Given the description of an element on the screen output the (x, y) to click on. 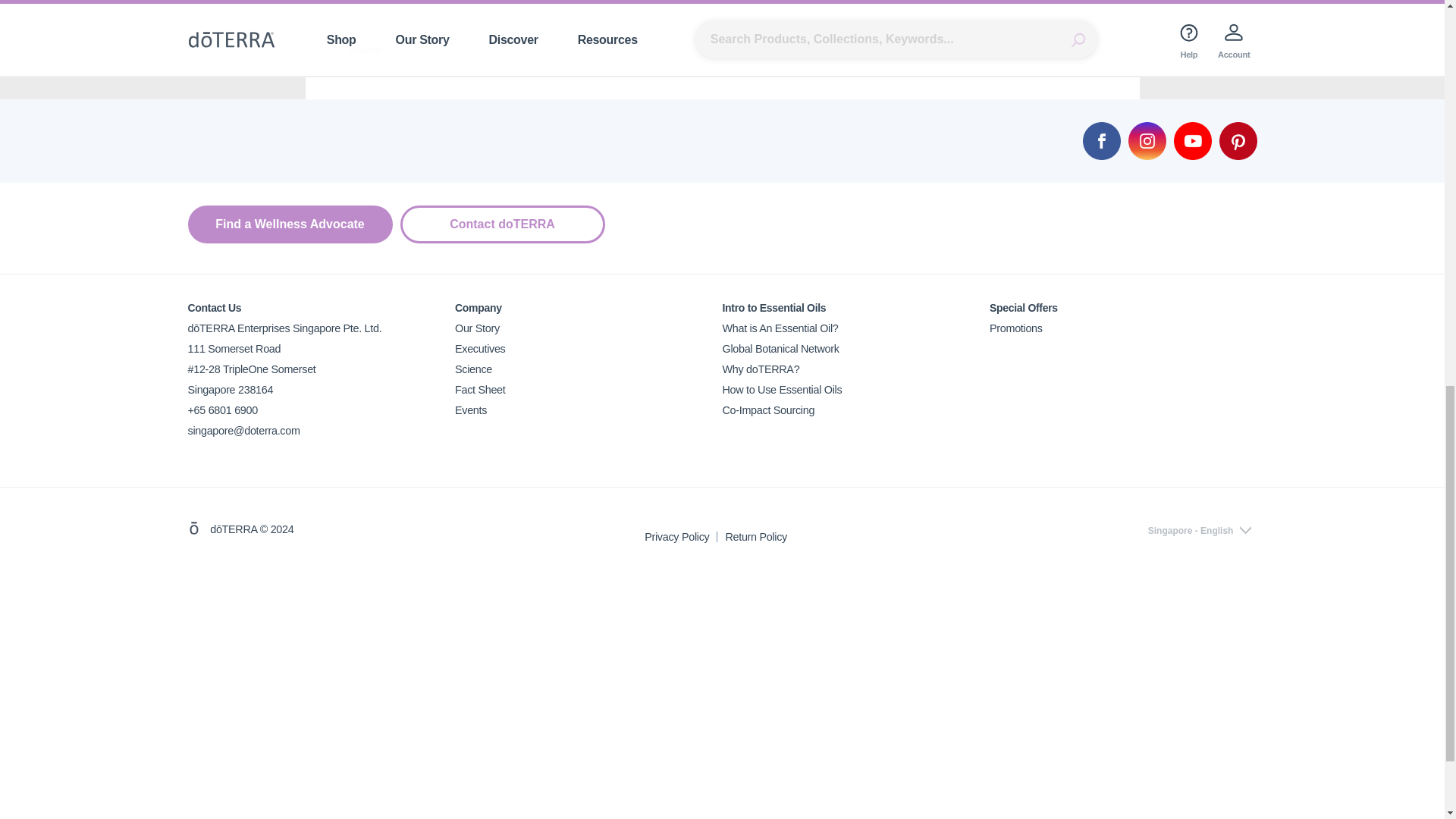
Facebook (1102, 140)
Pinterest (1238, 140)
Instagram (1147, 140)
YouTube (1192, 140)
